Given the description of an element on the screen output the (x, y) to click on. 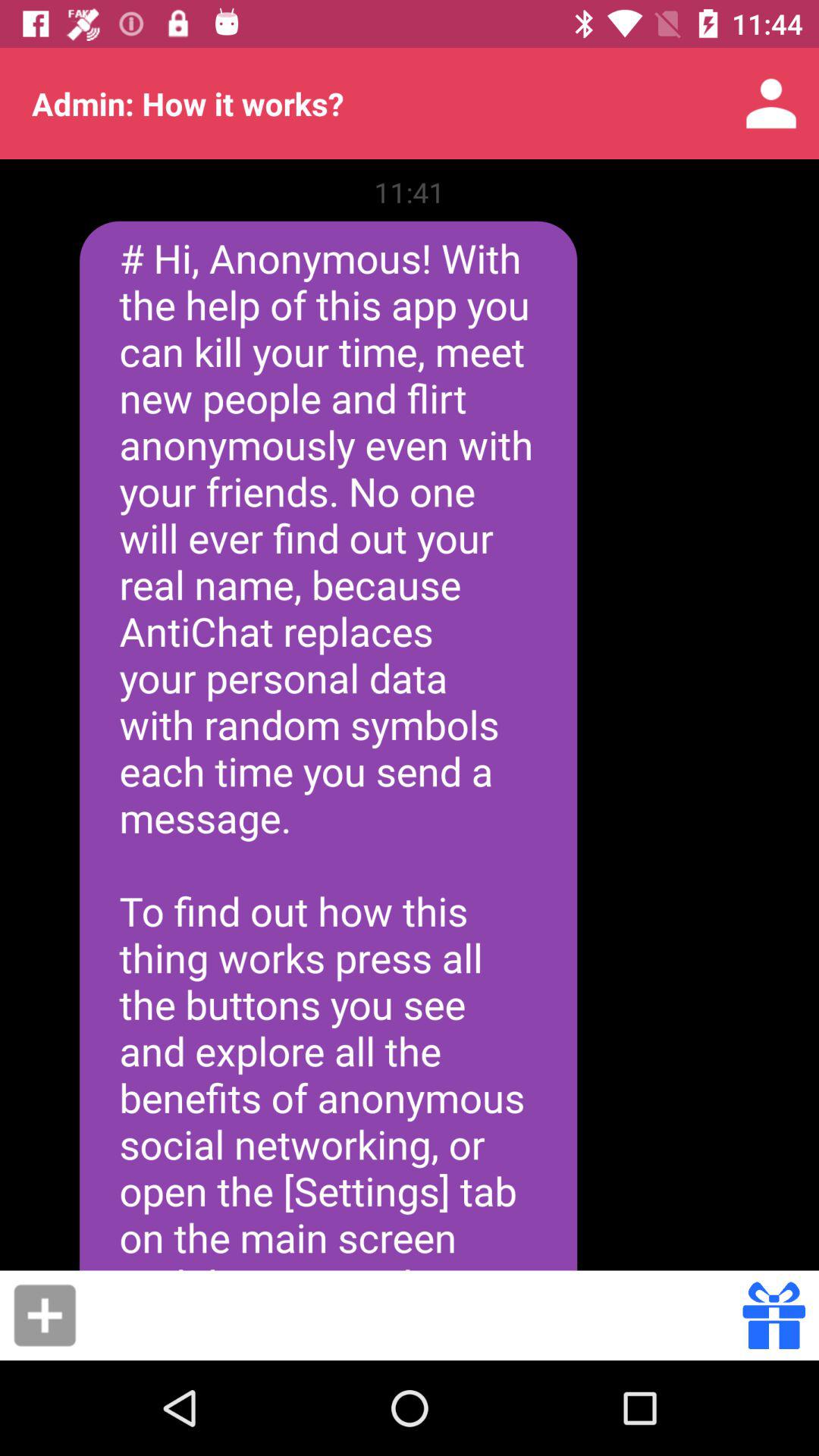
swipe to 11:41 item (409, 192)
